Given the description of an element on the screen output the (x, y) to click on. 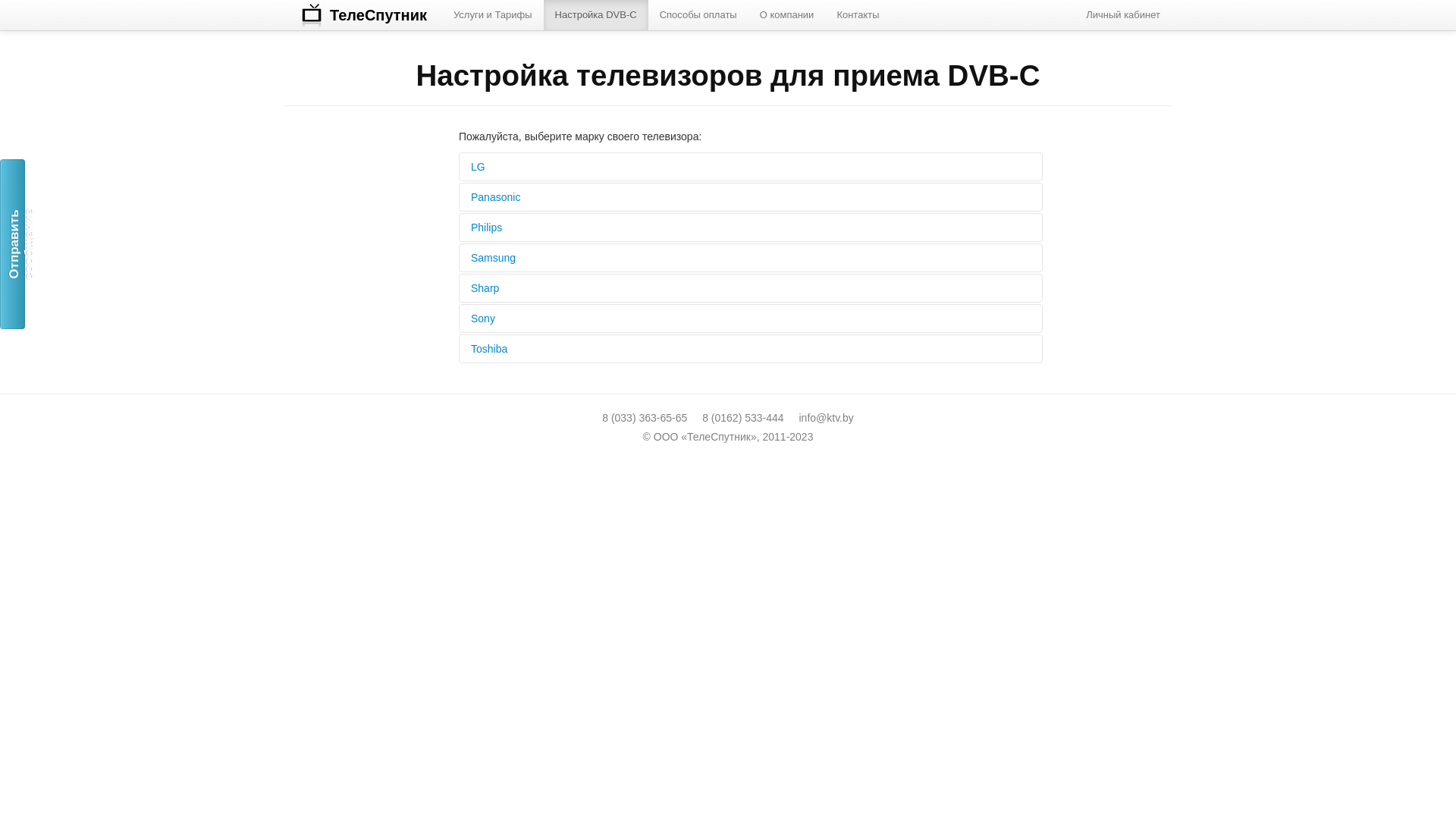
Toshiba Element type: text (750, 348)
Sharp Element type: text (750, 287)
LG Element type: text (750, 166)
Philips Element type: text (750, 227)
Samsung Element type: text (750, 257)
info@ktv.by Element type: text (825, 417)
Sony Element type: text (750, 318)
Panasonic Element type: text (750, 196)
